Given the description of an element on the screen output the (x, y) to click on. 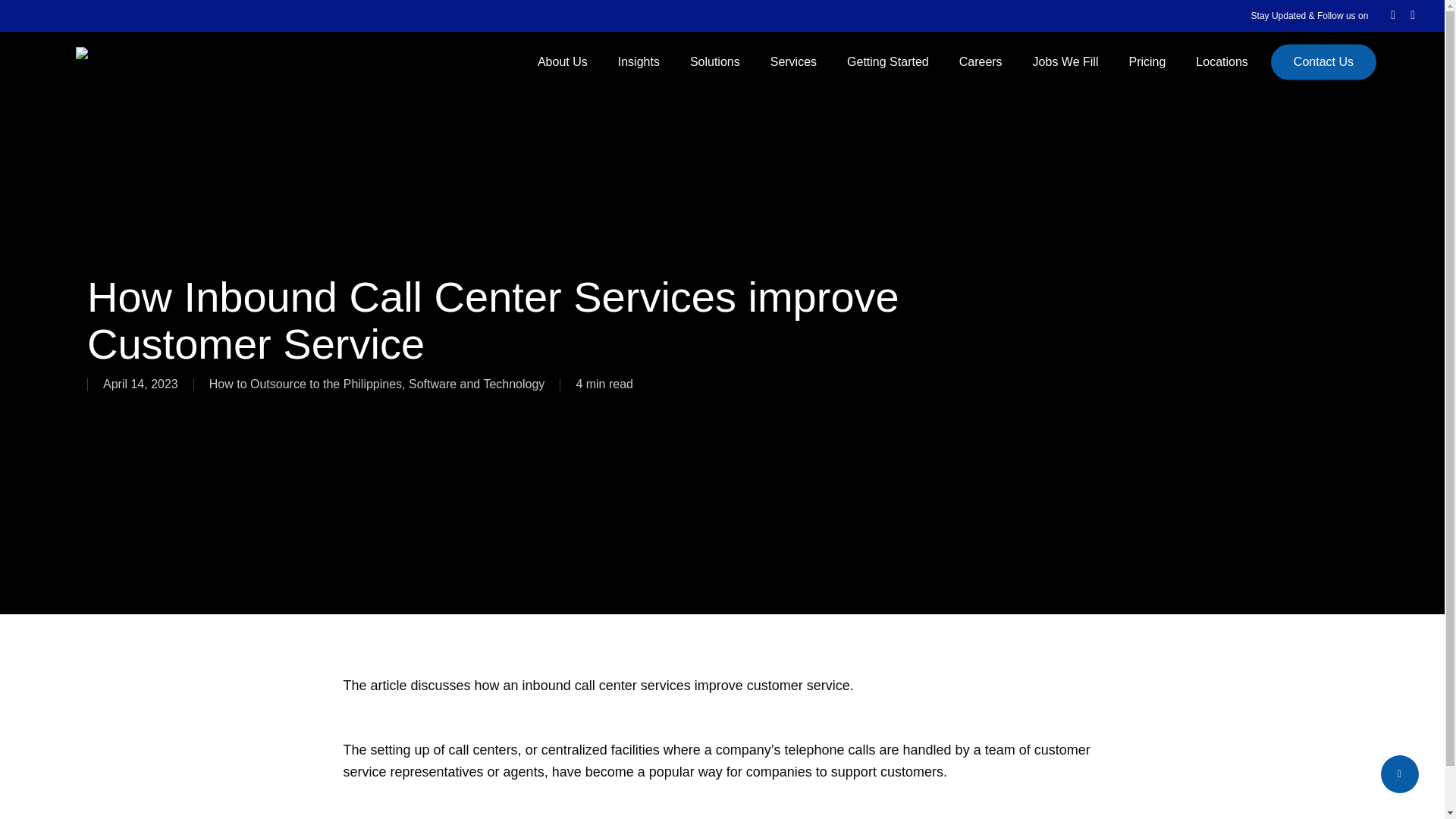
Solutions (715, 62)
linkedin (1412, 15)
facebook (1392, 15)
Insights (638, 62)
About Us (562, 62)
